Given the description of an element on the screen output the (x, y) to click on. 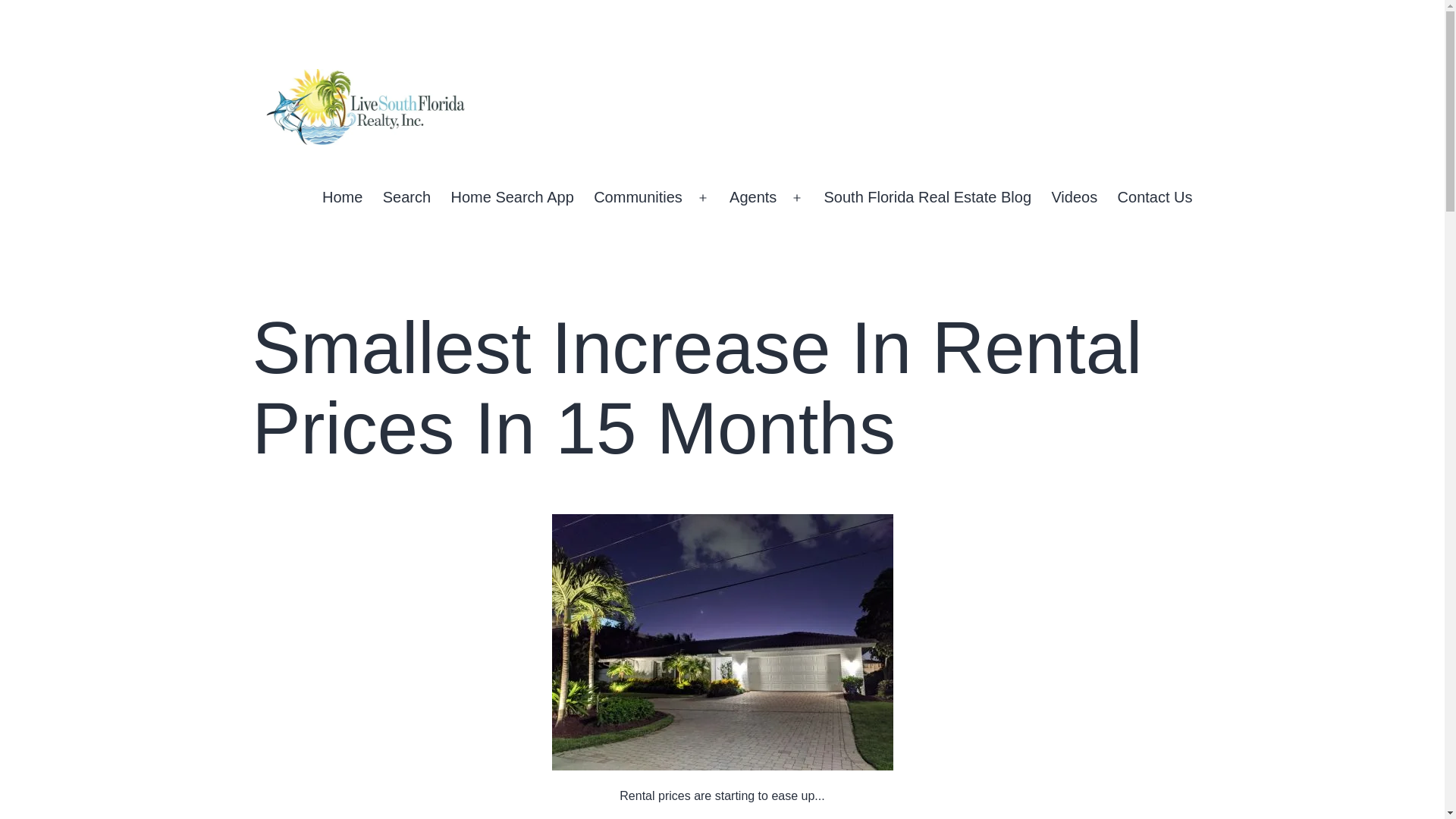
Videos (1073, 198)
Contact Us (1154, 198)
Home Search App (512, 198)
Search (406, 198)
Communities (638, 198)
South Florida Real Estate Blog (927, 198)
Agents (753, 198)
Home (342, 198)
